Given the description of an element on the screen output the (x, y) to click on. 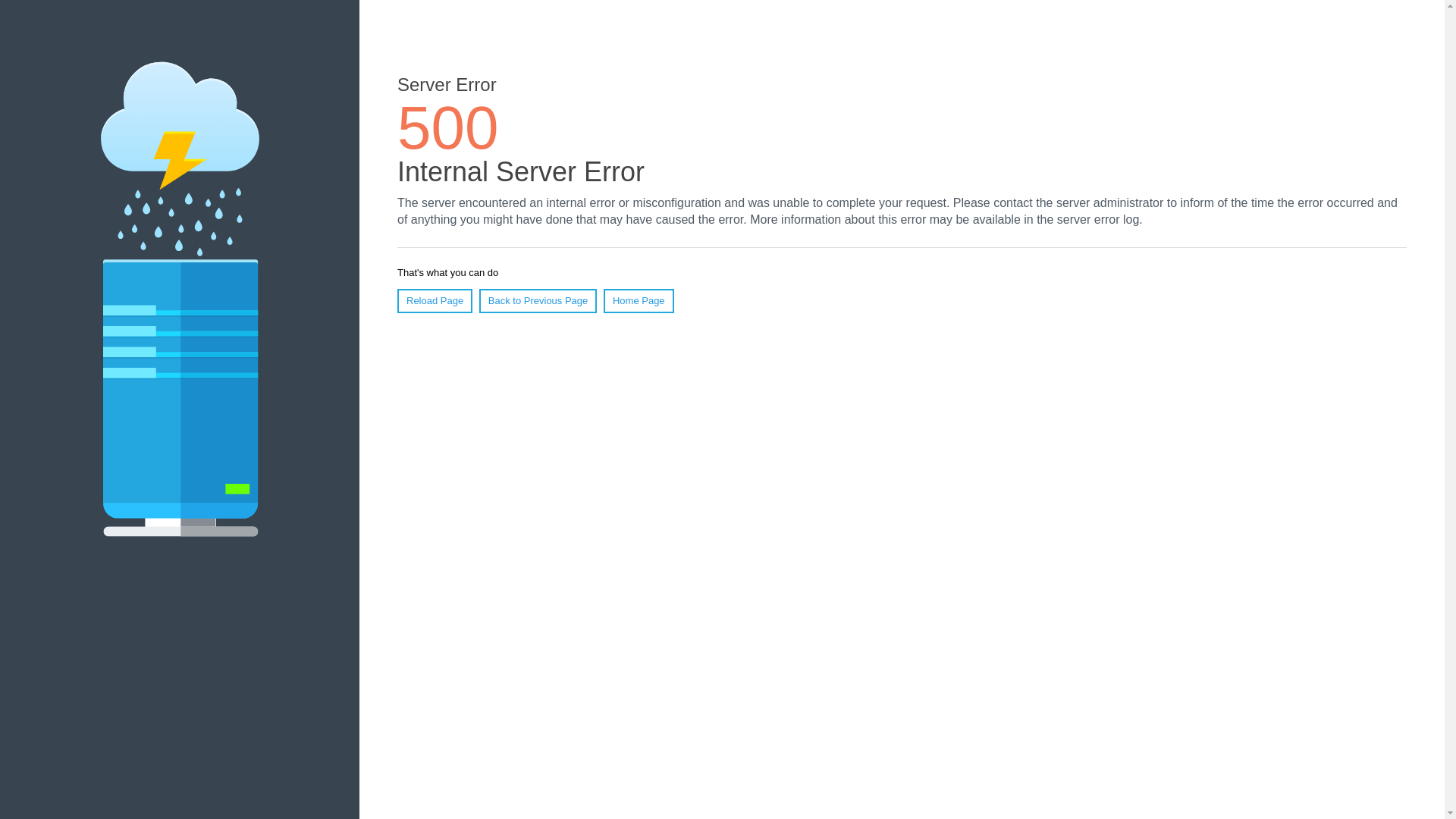
Back to Previous Page Element type: text (538, 300)
Reload Page Element type: text (434, 300)
Home Page Element type: text (638, 300)
